Given the description of an element on the screen output the (x, y) to click on. 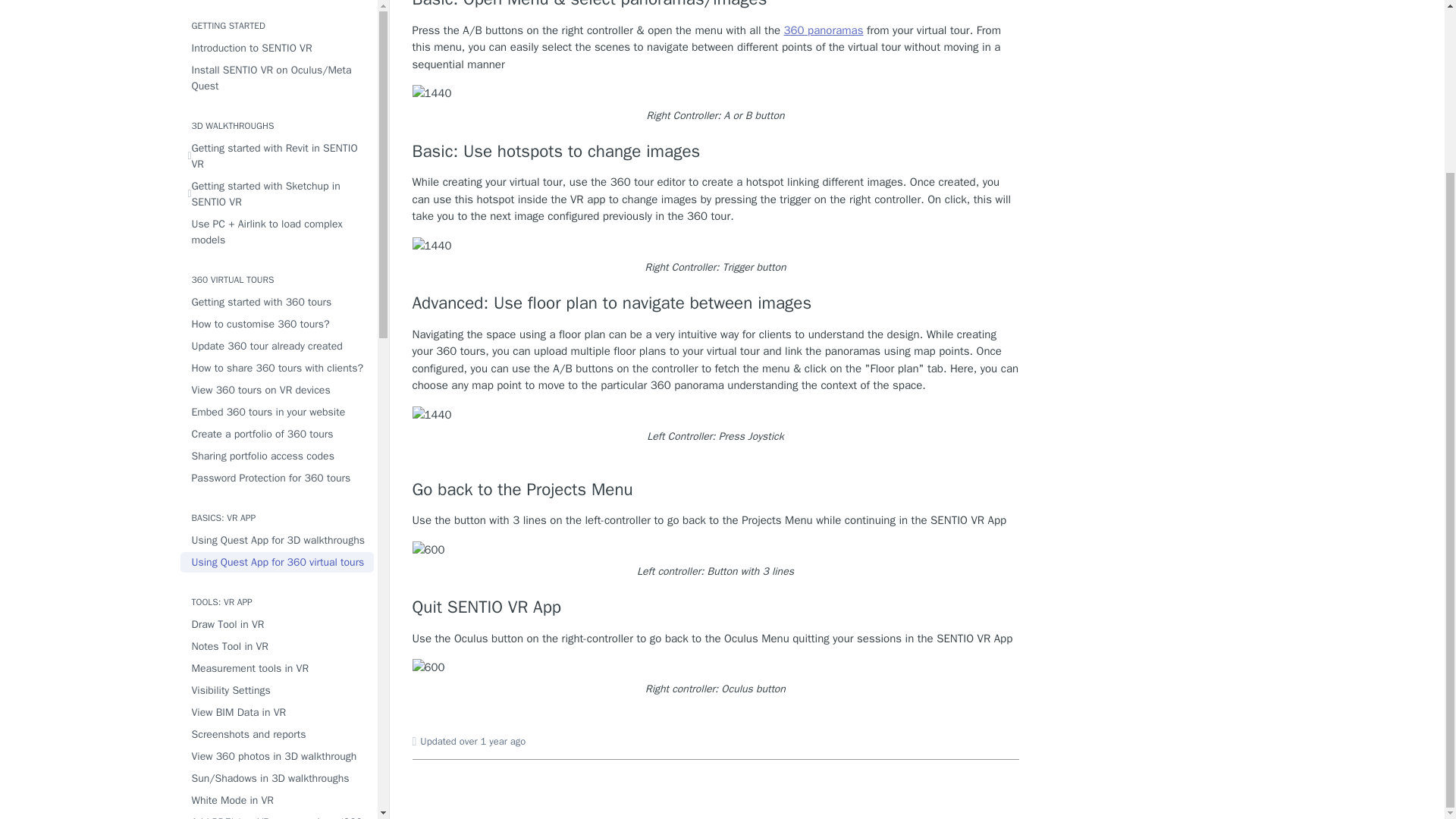
Getting started with Revit in SENTIO VR (277, 17)
Go back to the Projects Menu (715, 489)
scenes menu.jpg (431, 93)
Measurement tools in VR (277, 528)
How to share 360 tours with clients? (277, 228)
Using Quest App for 3D walkthroughs (277, 400)
Visibility Settings (277, 550)
go back to projects.gif (428, 548)
View BIM Data in VR (277, 572)
Getting started with Sketchup in SENTIO VR (277, 54)
